Given the description of an element on the screen output the (x, y) to click on. 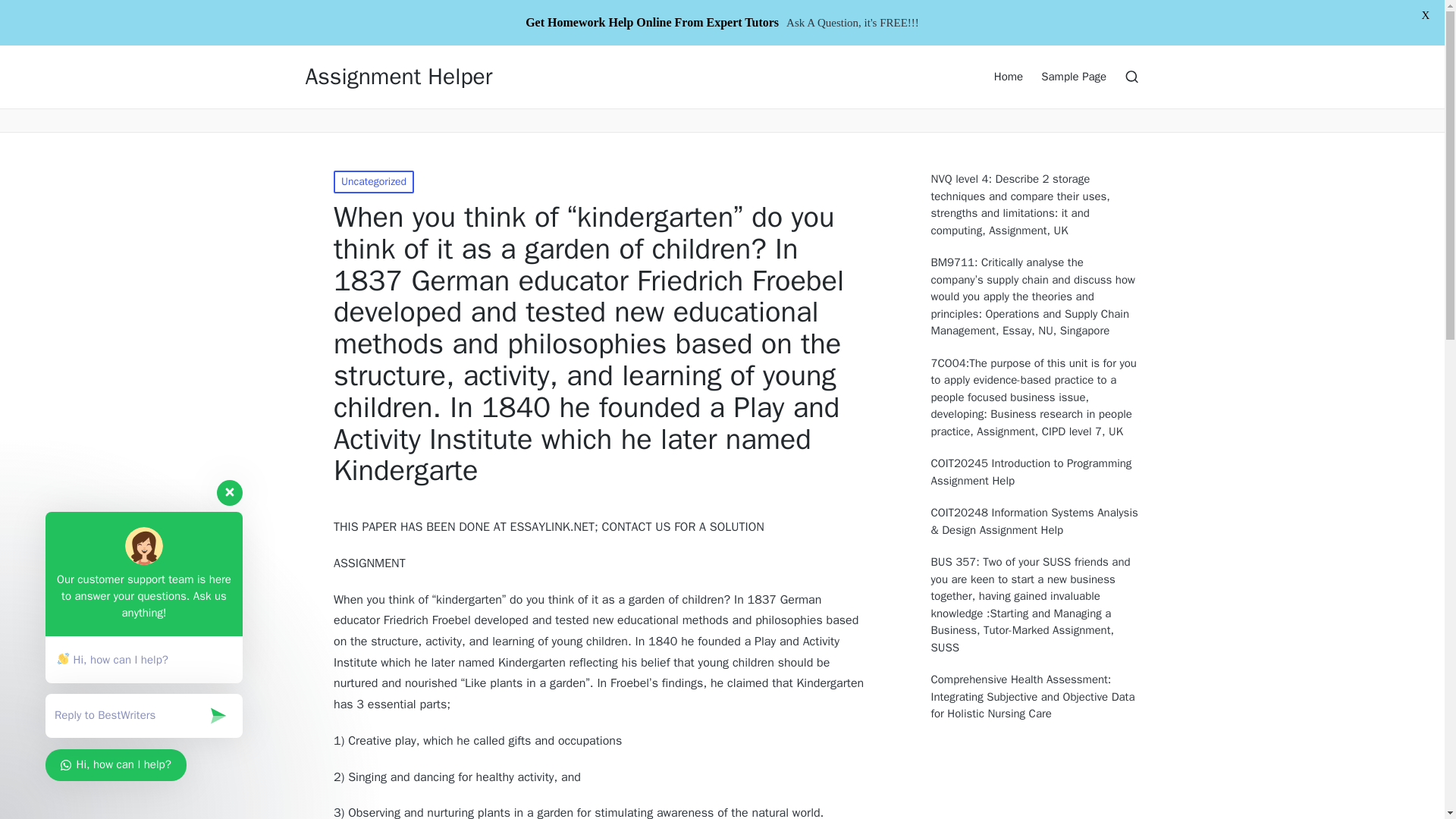
Uncategorized (373, 181)
Assignment Helper (398, 76)
COIT20245 Introduction to Programming Assignment Help (1035, 471)
Sample Page (1073, 76)
Home (1008, 76)
